Given the description of an element on the screen output the (x, y) to click on. 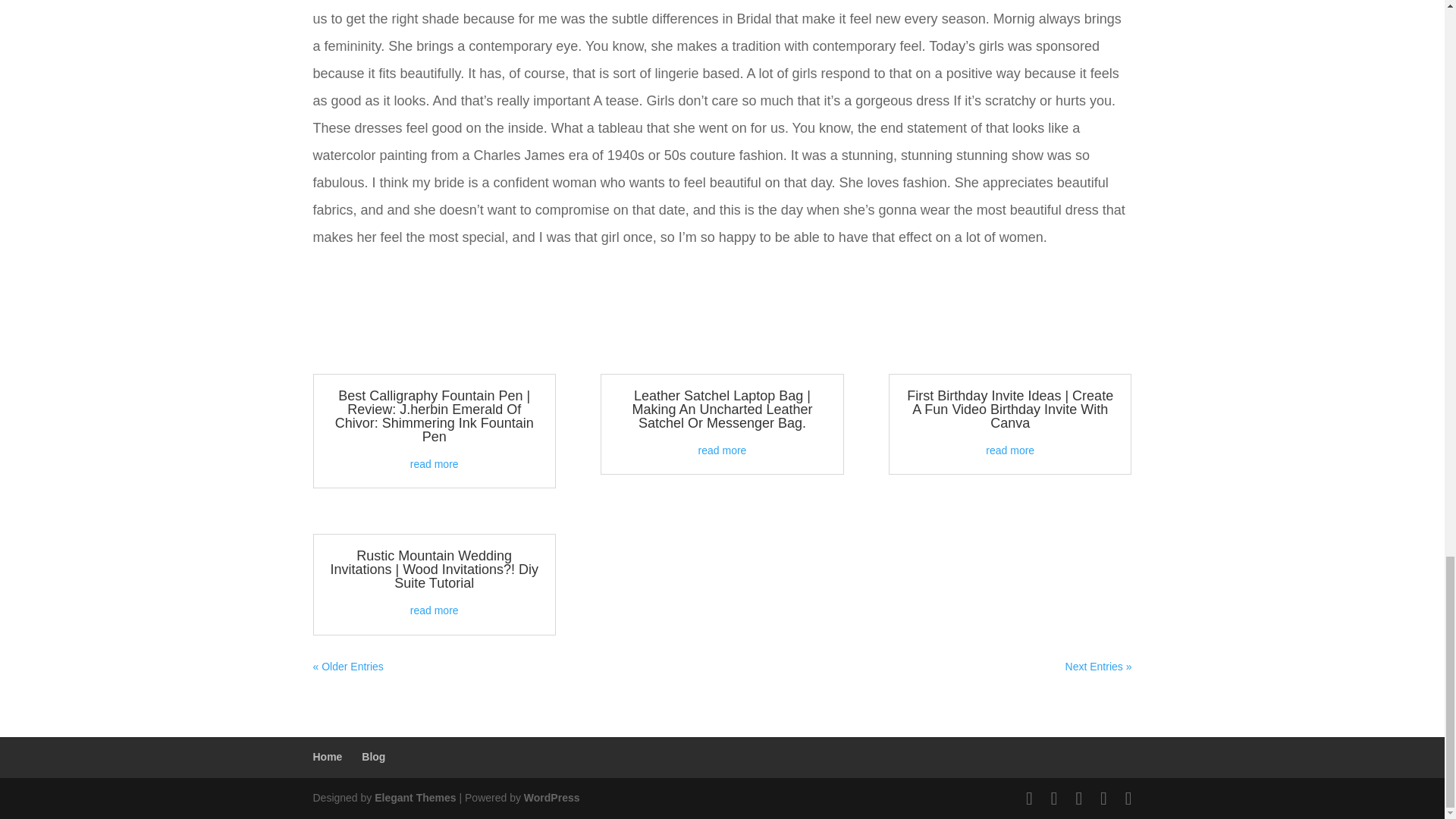
Premium WordPress Themes (414, 797)
Elegant Themes (414, 797)
Blog (373, 756)
read more (722, 450)
Home (327, 756)
read more (1009, 450)
read more (434, 463)
WordPress (551, 797)
read more (434, 610)
